Given the description of an element on the screen output the (x, y) to click on. 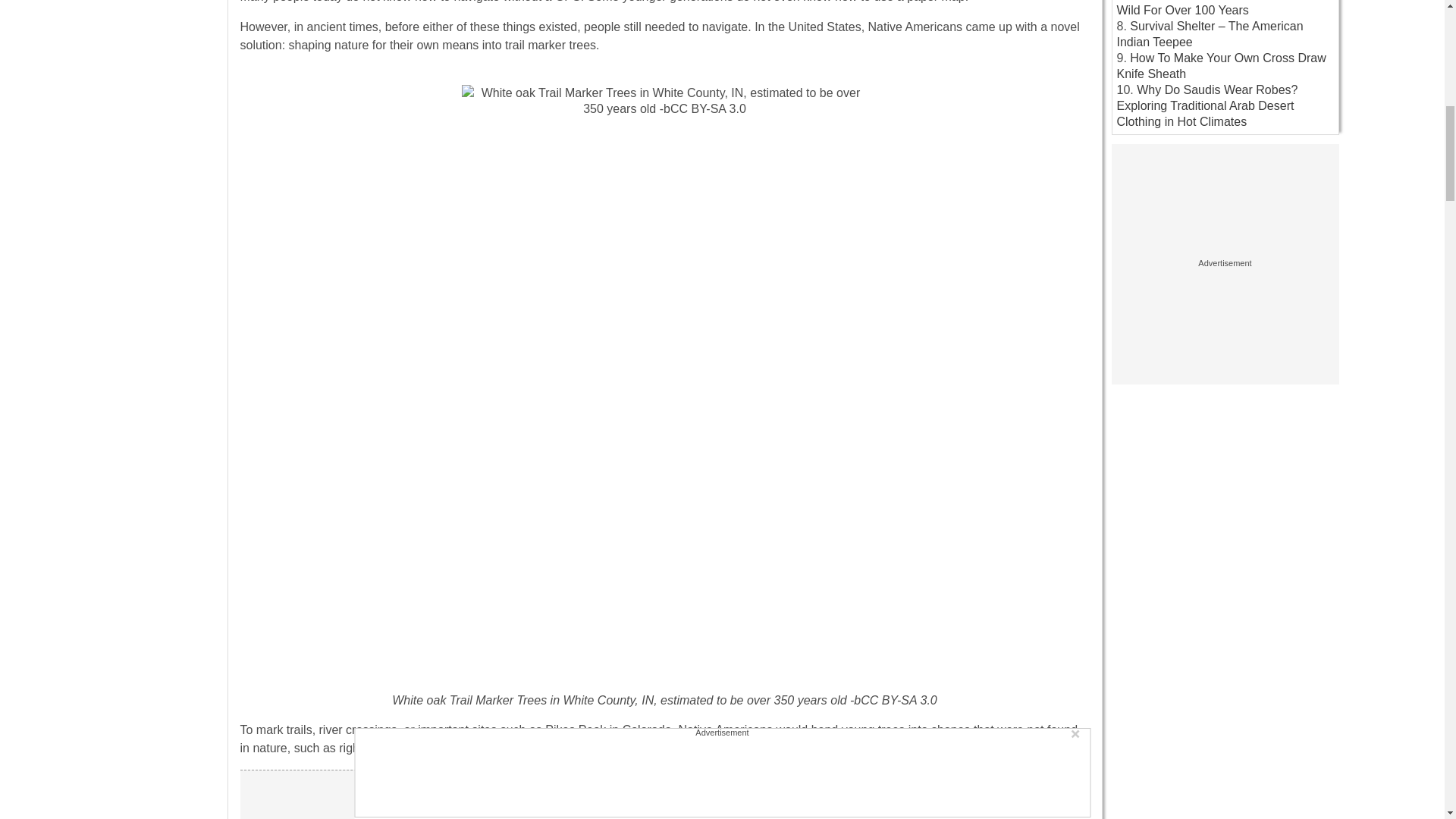
How To Make Your Own Cross Draw Knife Sheath (1220, 65)
The First Wolverines Seen In The Wild For Over 100 Years (1213, 8)
